Given the description of an element on the screen output the (x, y) to click on. 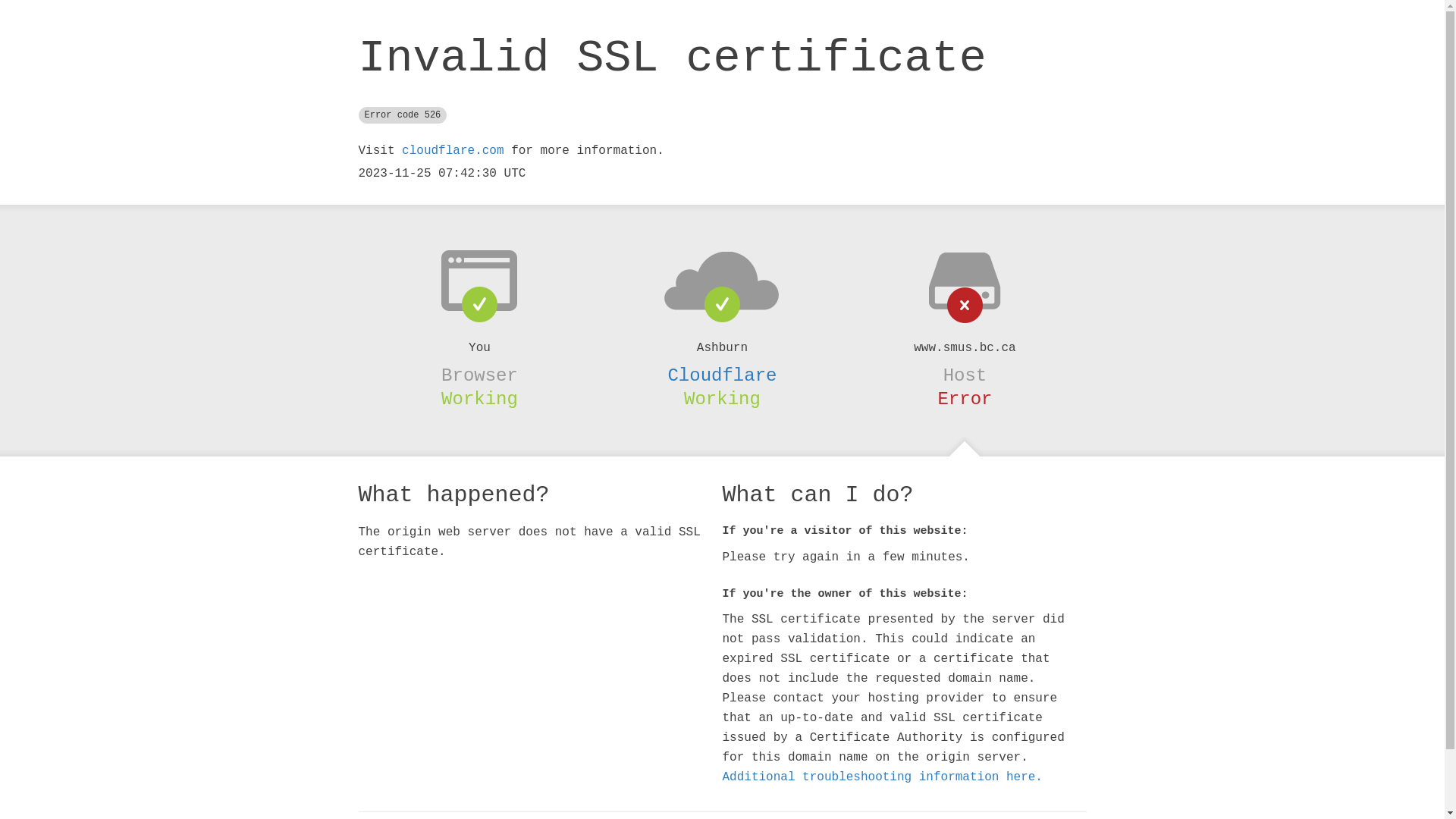
Additional troubleshooting information here. Element type: text (881, 777)
Cloudflare Element type: text (721, 375)
cloudflare.com Element type: text (452, 150)
